Given the description of an element on the screen output the (x, y) to click on. 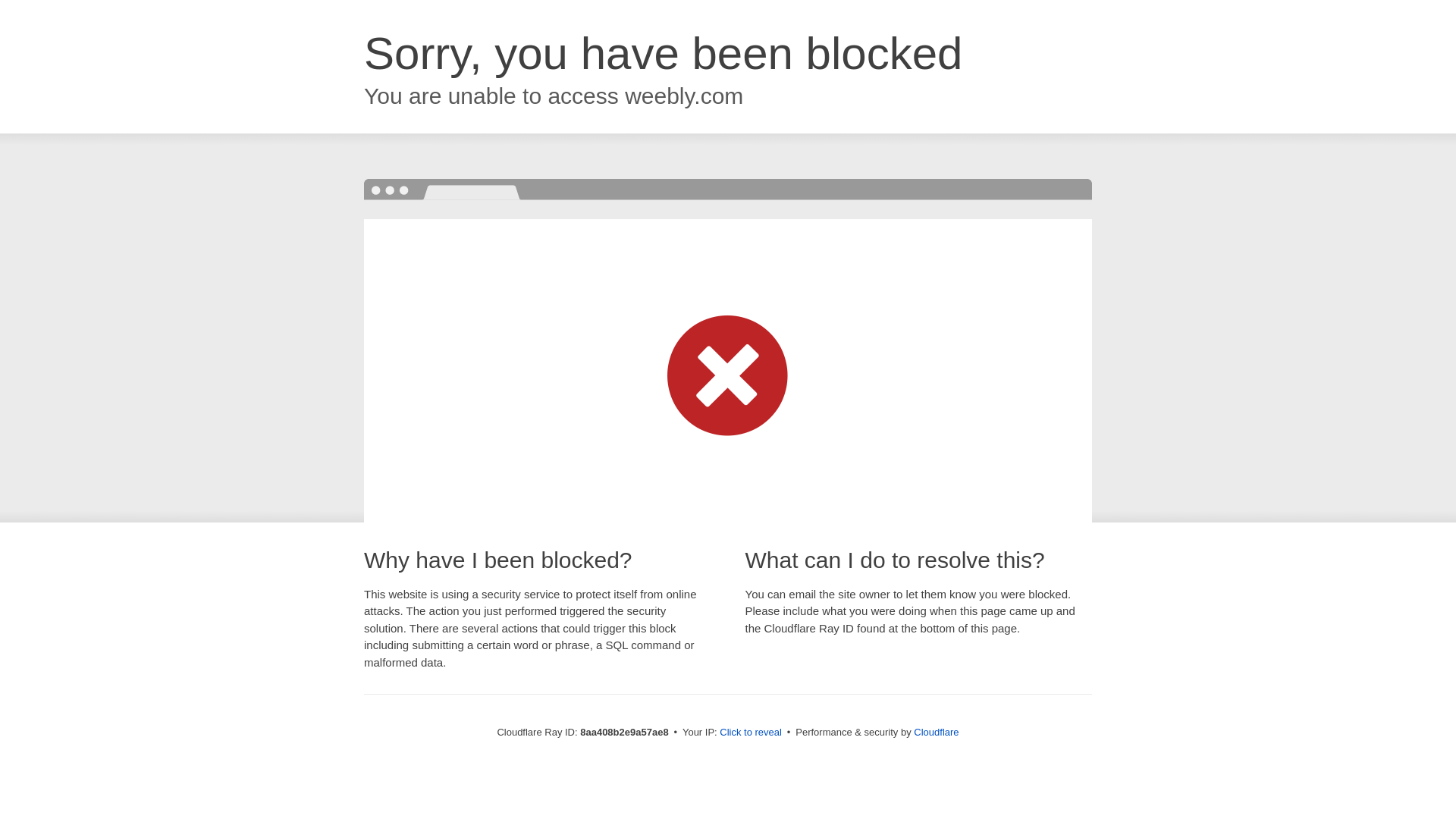
Cloudflare (936, 731)
Click to reveal (750, 732)
